Given the description of an element on the screen output the (x, y) to click on. 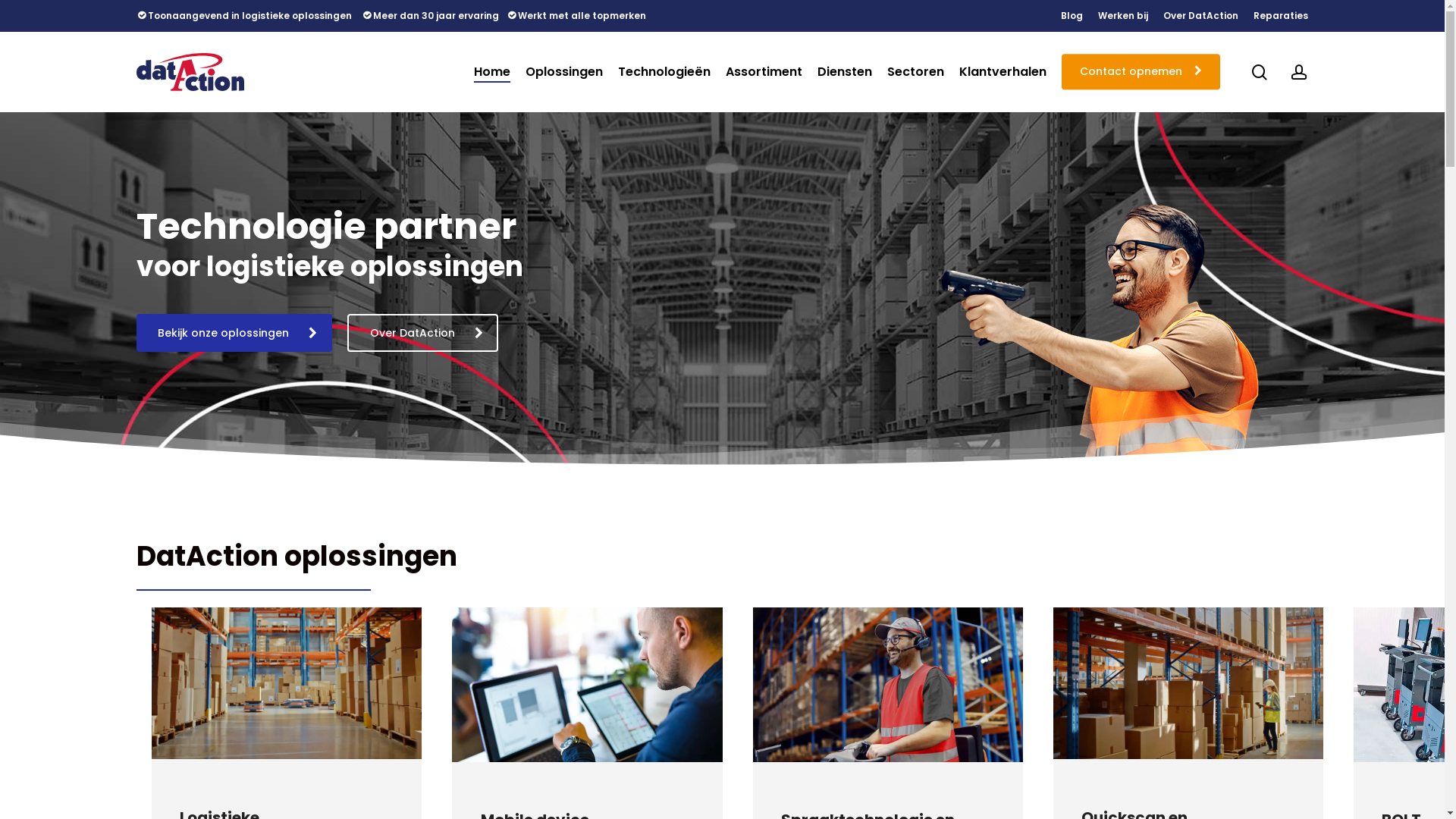
Blog Element type: text (1071, 15)
Bekijk onze oplossingen Element type: text (234, 332)
Over DatAction Element type: text (1200, 15)
Klantverhalen Element type: text (1002, 71)
Oplossingen Element type: text (563, 71)
Home Element type: text (491, 71)
Assortiment Element type: text (763, 71)
account Element type: text (1298, 71)
Over DatAction Element type: text (422, 332)
Sectoren Element type: text (915, 71)
Werken bij Element type: text (1123, 15)
Contact opnemen     Element type: text (1140, 71)
Diensten Element type: text (844, 71)
search Element type: text (1259, 71)
Reparaties Element type: text (1280, 15)
